Given the description of an element on the screen output the (x, y) to click on. 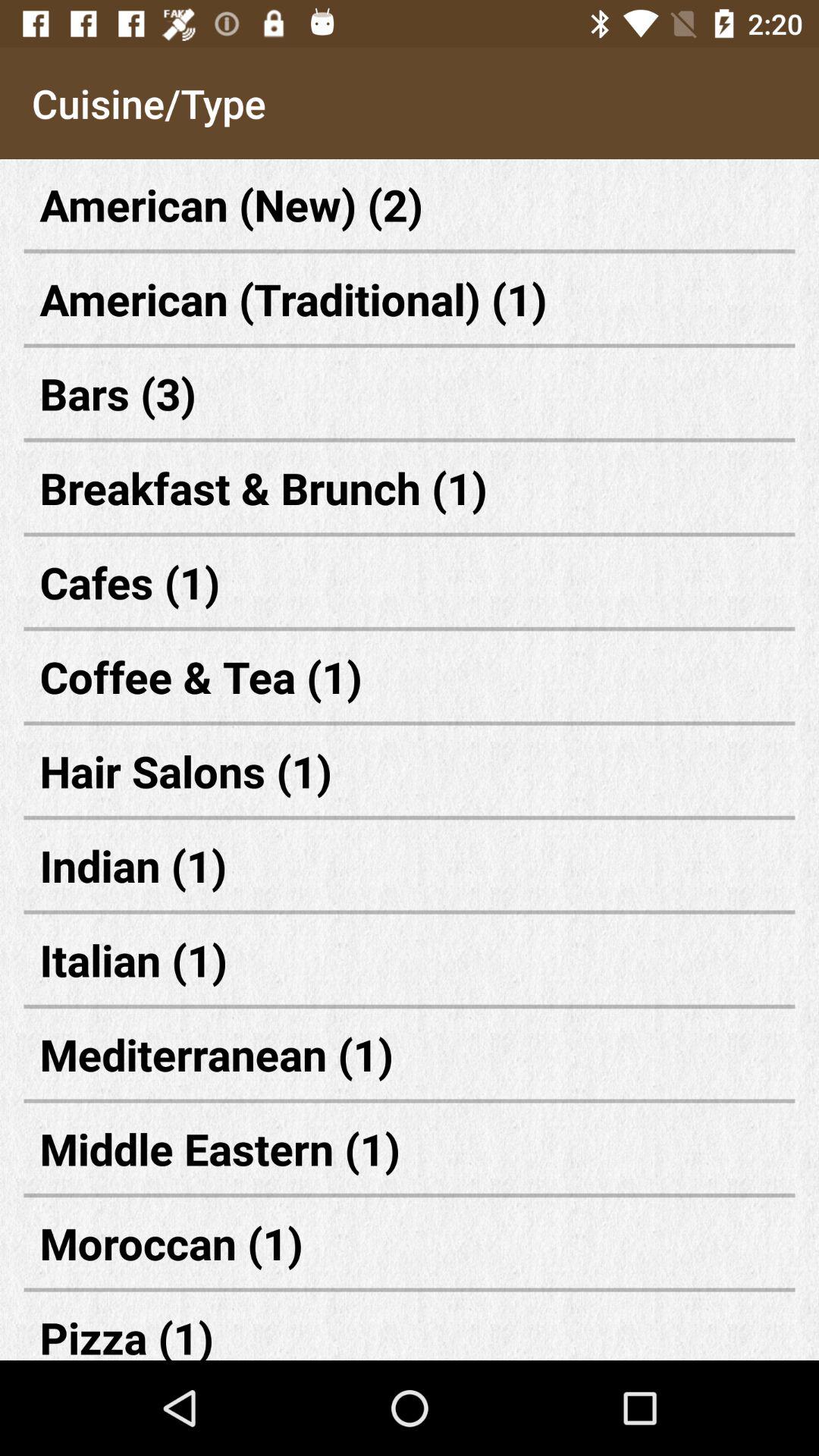
jump to bars (3) (409, 393)
